Given the description of an element on the screen output the (x, y) to click on. 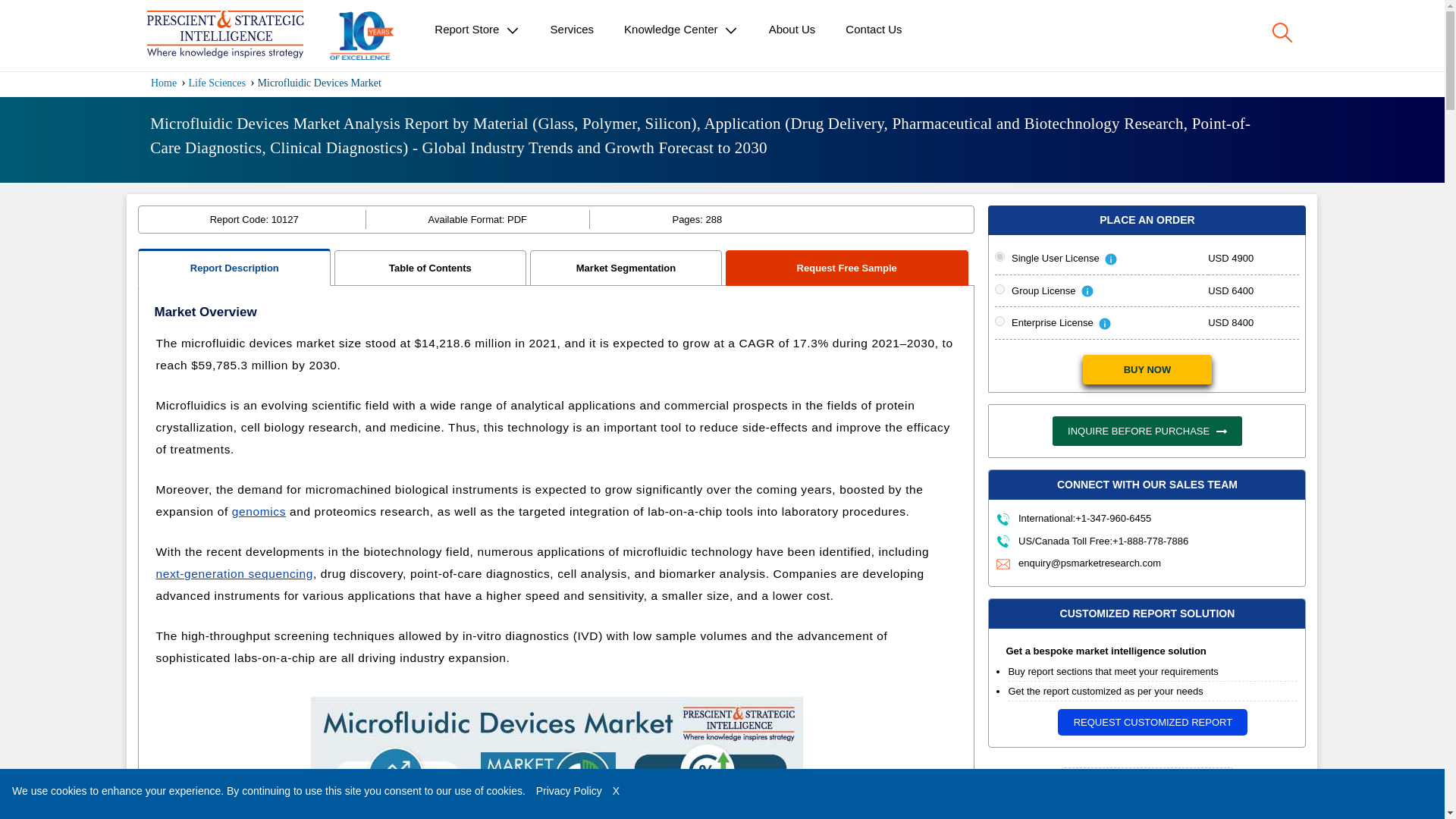
633 (999, 289)
Life Sciences (216, 82)
Search (1282, 32)
genomics (258, 511)
Request Free Sample (847, 267)
BUY NOW (1147, 369)
Services (572, 28)
Home (163, 82)
631 (999, 256)
2869 (999, 320)
next-generation sequencing (234, 573)
Market Segmentation (626, 267)
INQUIRE BEFORE PURCHASE (1146, 431)
About Us (792, 28)
Contact Us (873, 28)
